Given the description of an element on the screen output the (x, y) to click on. 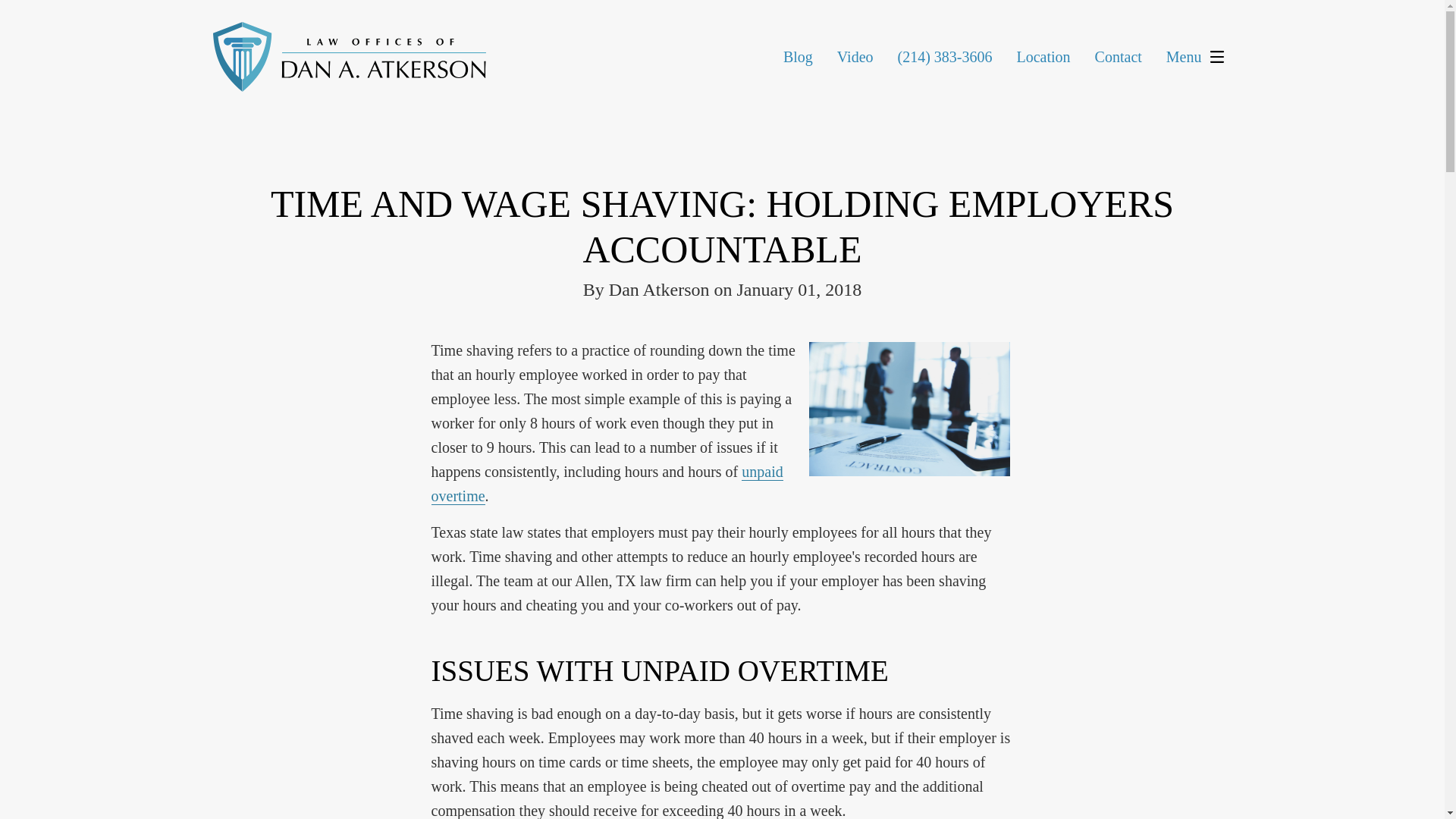
Menu (1198, 56)
unpaid overtime (606, 484)
Blog (797, 56)
Video (855, 56)
Location (1043, 56)
Contact (1117, 56)
